Given the description of an element on the screen output the (x, y) to click on. 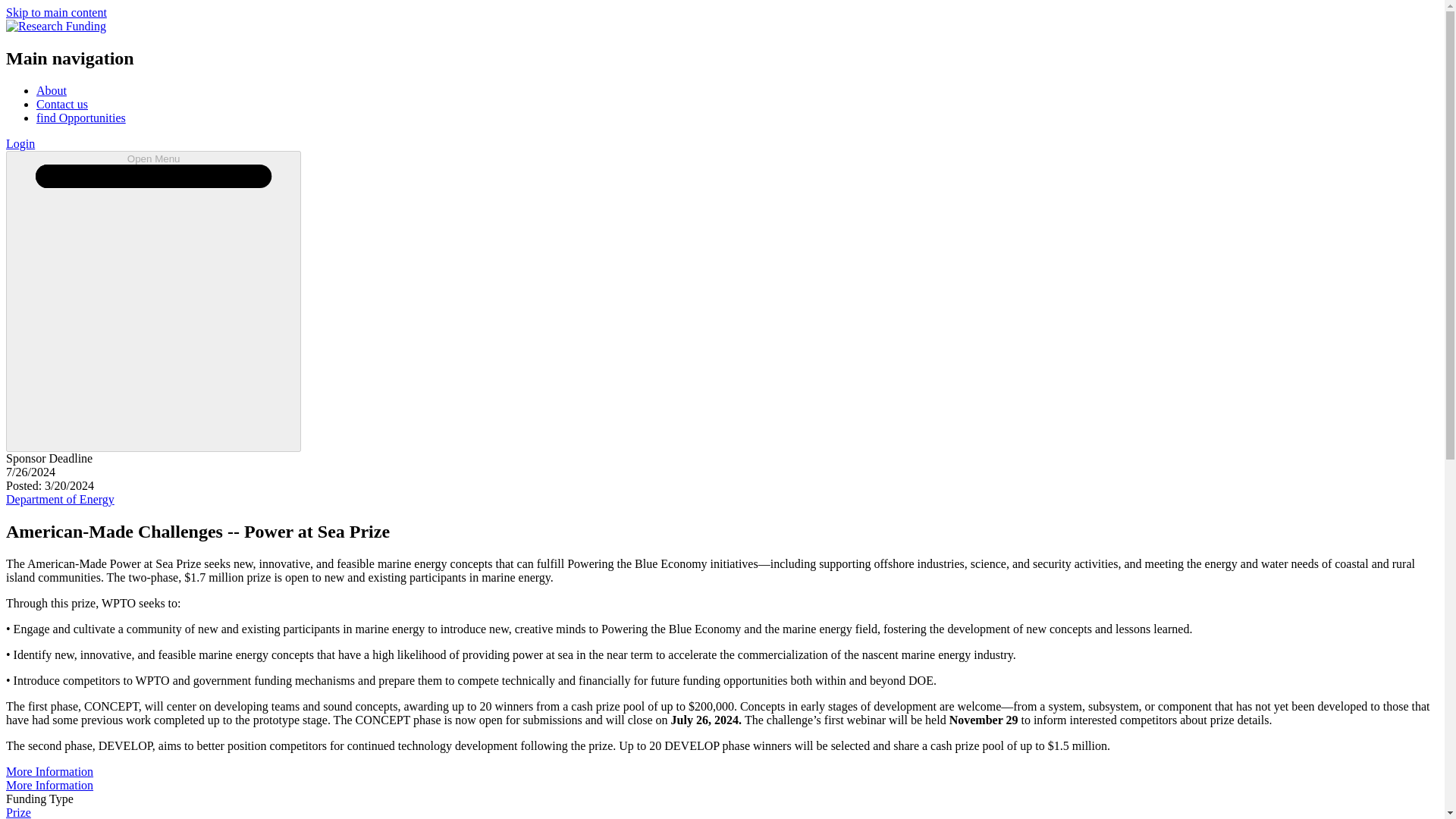
Department of Energy (60, 499)
More Information (49, 771)
Login (19, 143)
find Opportunities (80, 117)
Prize (17, 812)
Contact us (61, 103)
About (51, 90)
Skip to main content (55, 11)
More Information (49, 784)
Open Menu (153, 301)
